Given the description of an element on the screen output the (x, y) to click on. 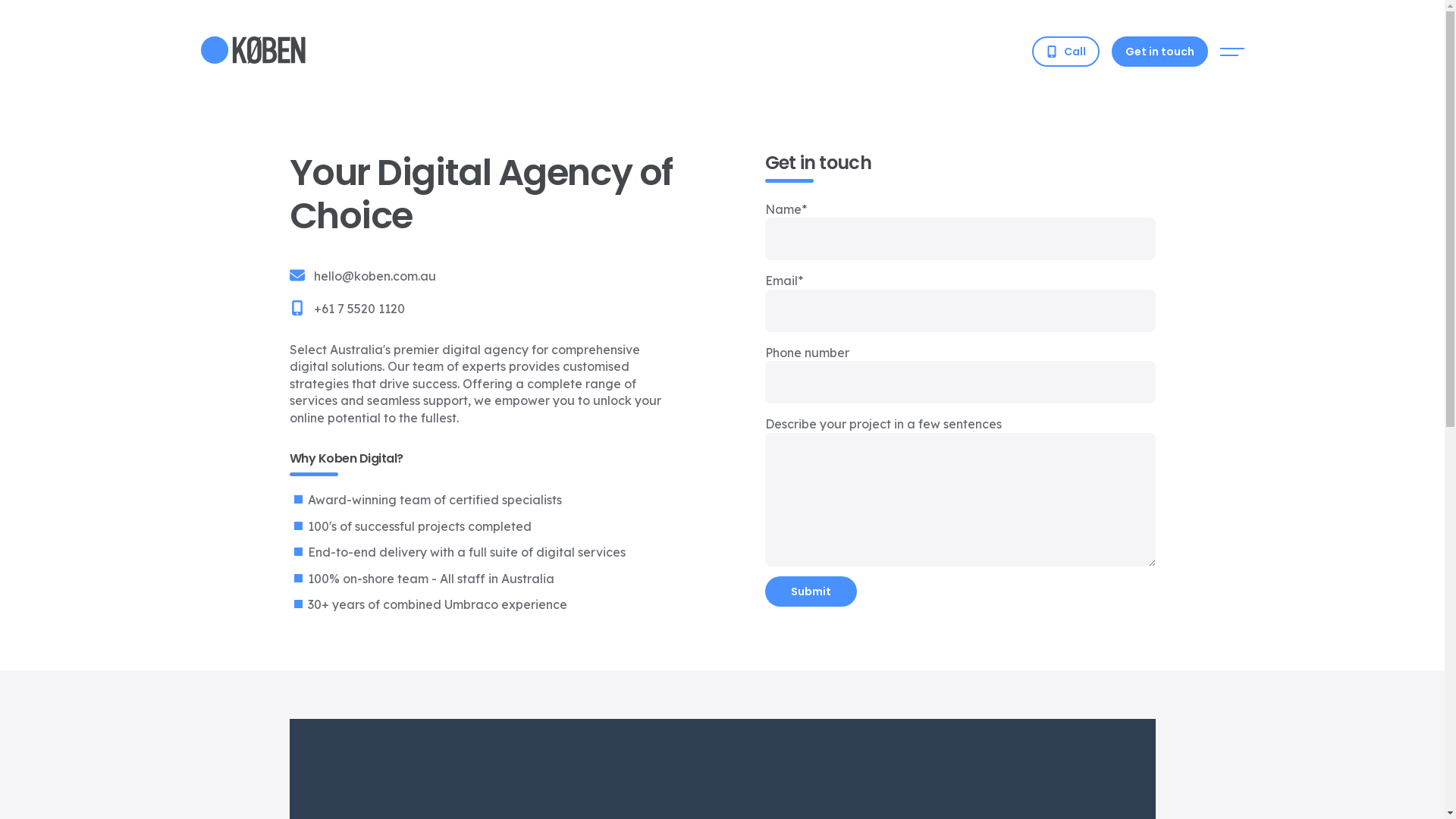
Call Element type: text (1064, 51)
+61 7 5520 1120 Element type: text (358, 308)
Submit Element type: text (810, 591)
hello@koben.com.au Element type: text (374, 275)
Open mobile menu Element type: hover (1231, 51)
Get in touch Element type: text (1159, 51)
